Given the description of an element on the screen output the (x, y) to click on. 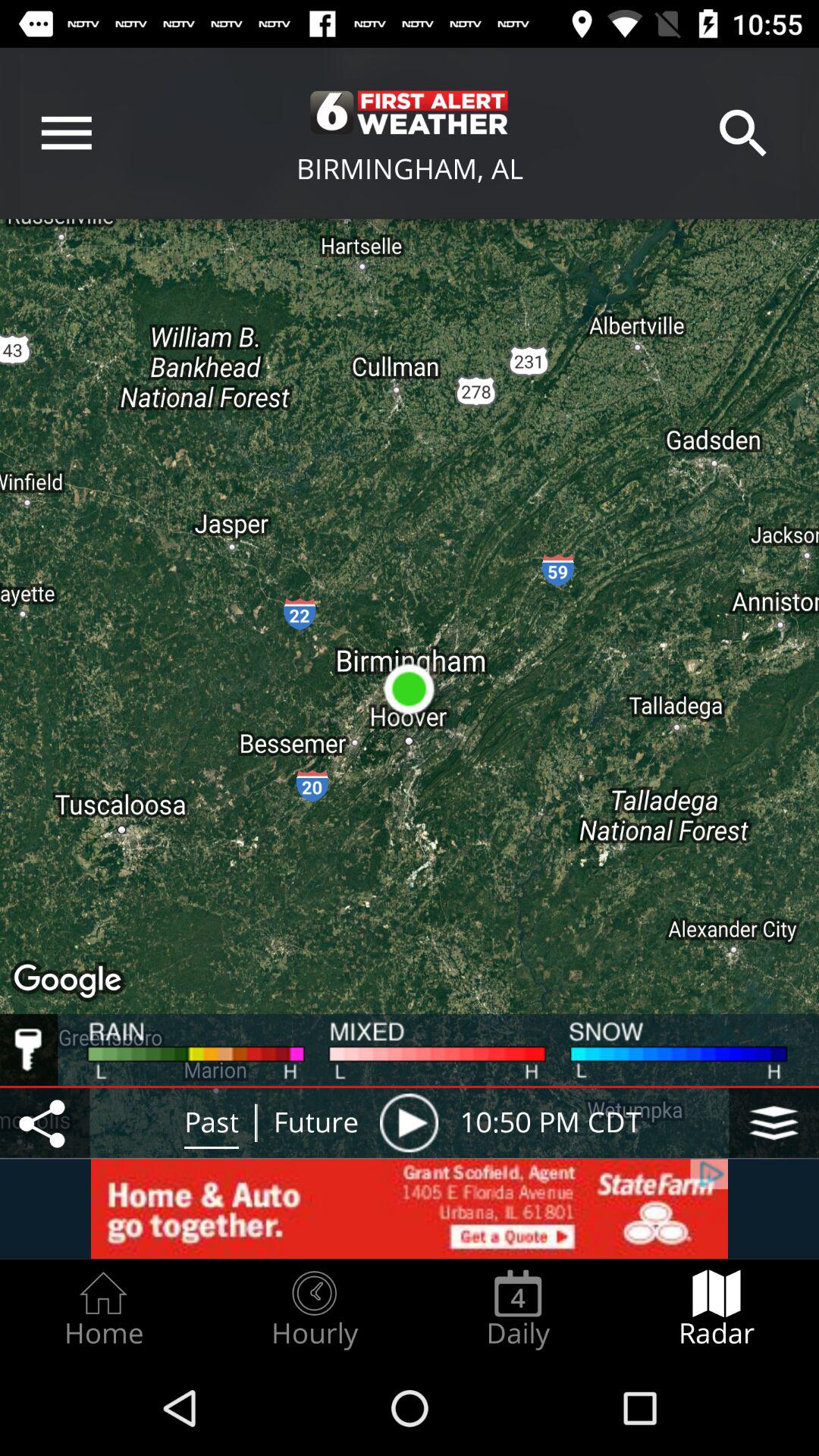
turn off icon to the left of radar radio button (518, 1309)
